Given the description of an element on the screen output the (x, y) to click on. 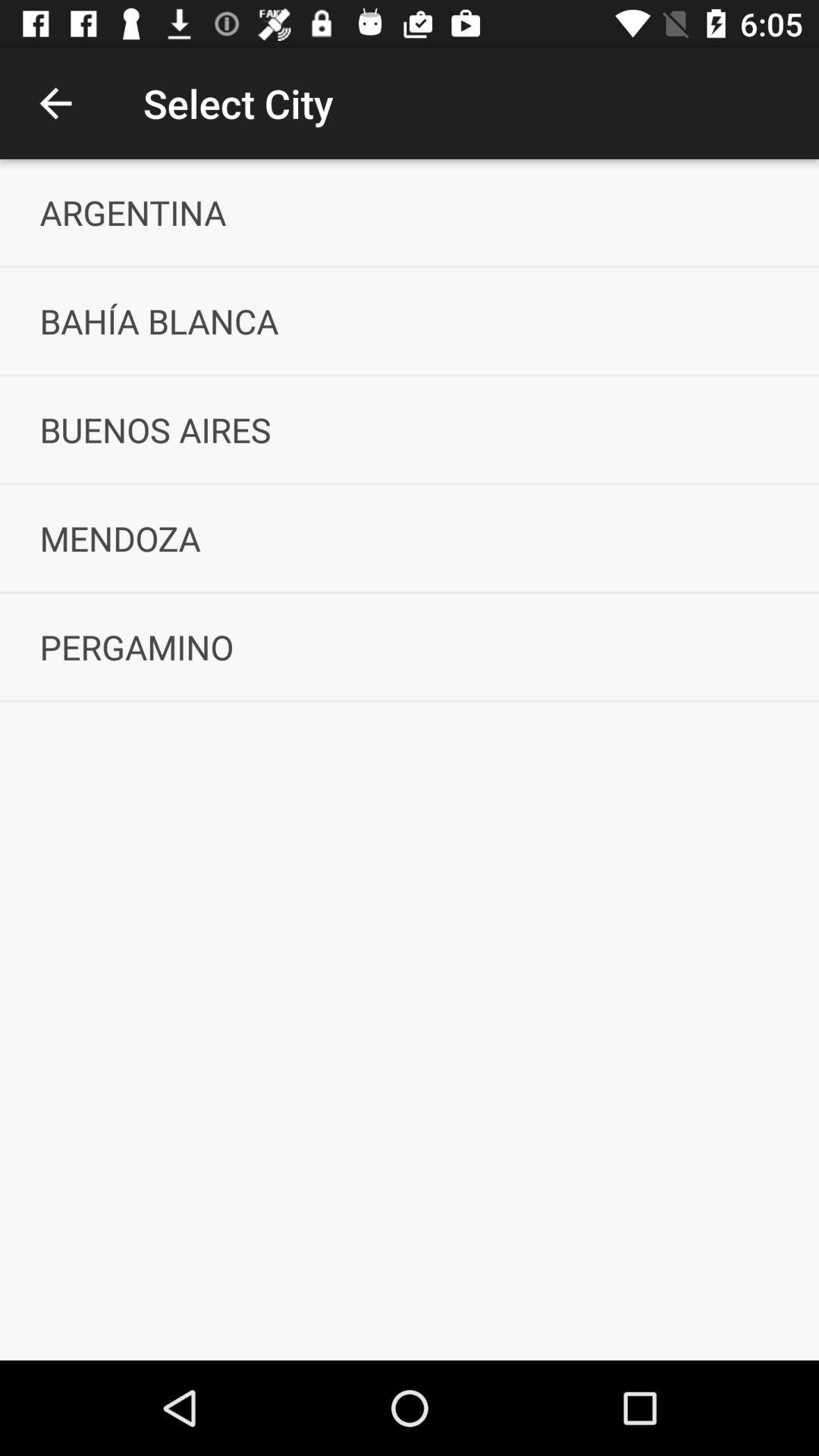
turn on icon above the mendoza (409, 429)
